Given the description of an element on the screen output the (x, y) to click on. 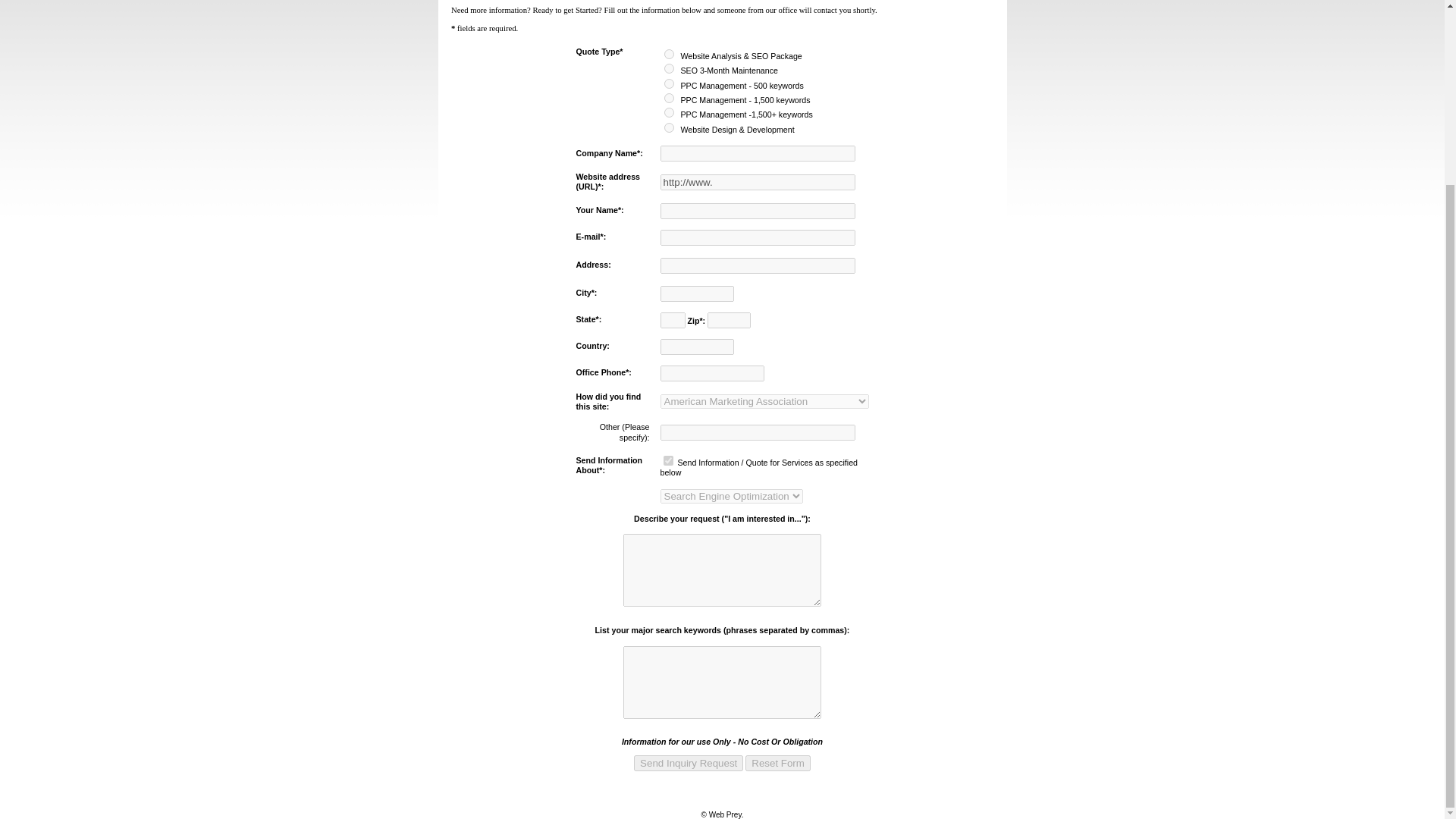
PPCManagement50 (668, 83)
serv (667, 460)
PPCManagement100 (668, 98)
SEOMaintenance (668, 68)
Send Inquiry Request (687, 763)
SEOPackage (668, 53)
WebDesign (668, 127)
Reset Form (777, 763)
PPCManagementOver100 (668, 112)
Send Inquiry Request (687, 763)
